Given the description of an element on the screen output the (x, y) to click on. 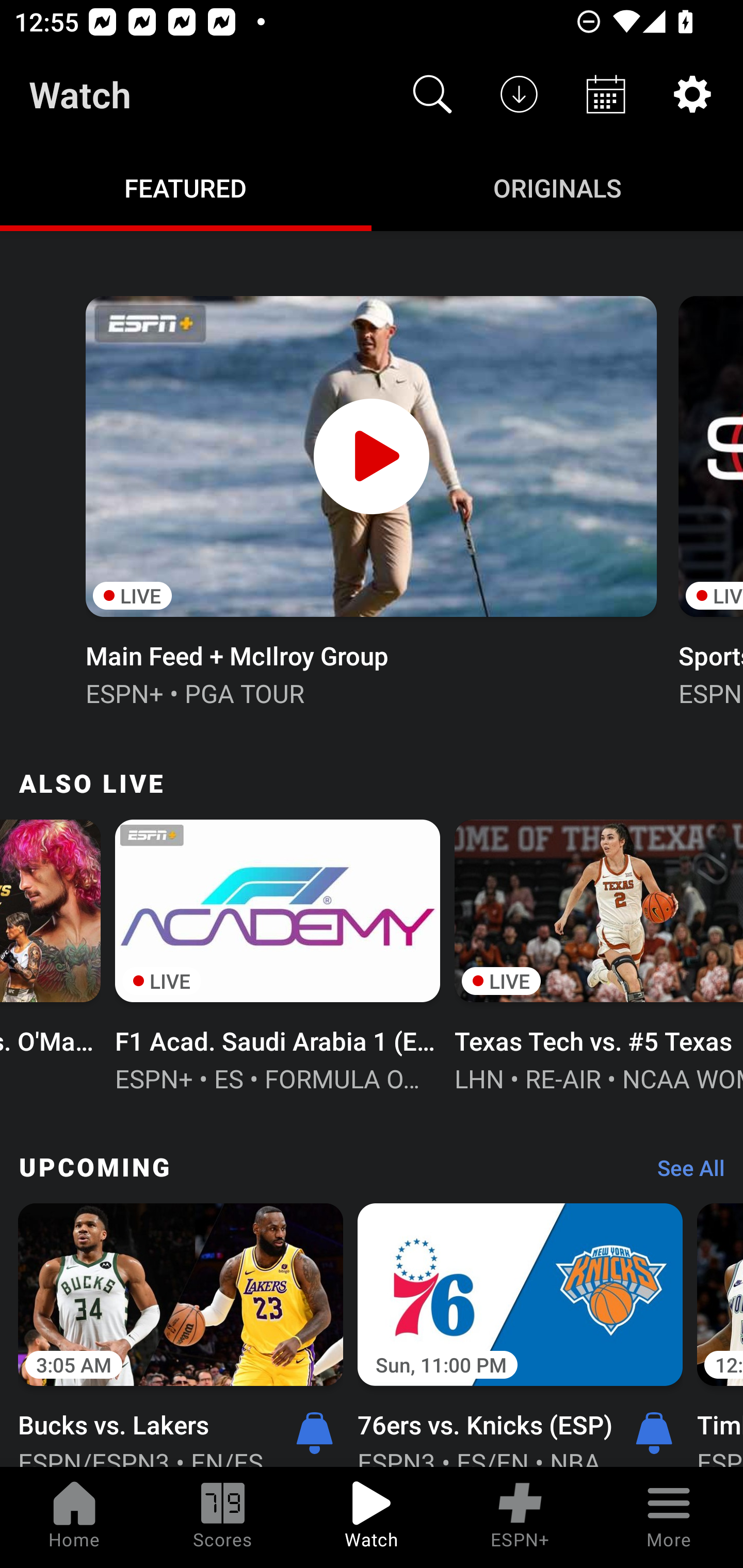
Search (432, 93)
Downloads (518, 93)
Schedule (605, 93)
Settings (692, 93)
Originals ORIGINALS (557, 187)
 LIVE Main Feed + McIlroy Group ESPN+ • PGA TOUR (370, 499)
See All (683, 1172)
Home (74, 1517)
Scores (222, 1517)
ESPN+ (519, 1517)
More (668, 1517)
